Given the description of an element on the screen output the (x, y) to click on. 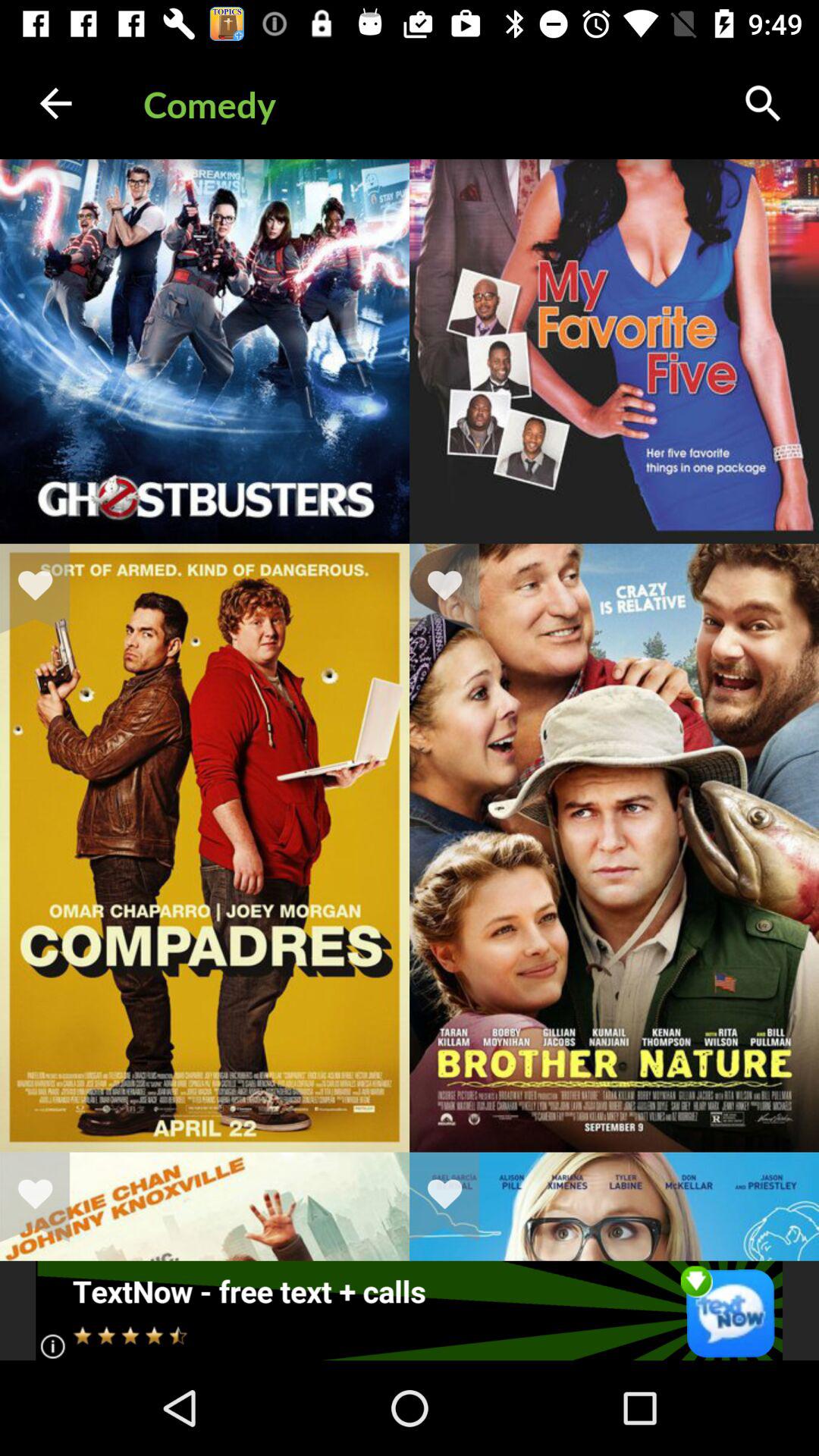
add the movie to favorites (44, 588)
